Given the description of an element on the screen output the (x, y) to click on. 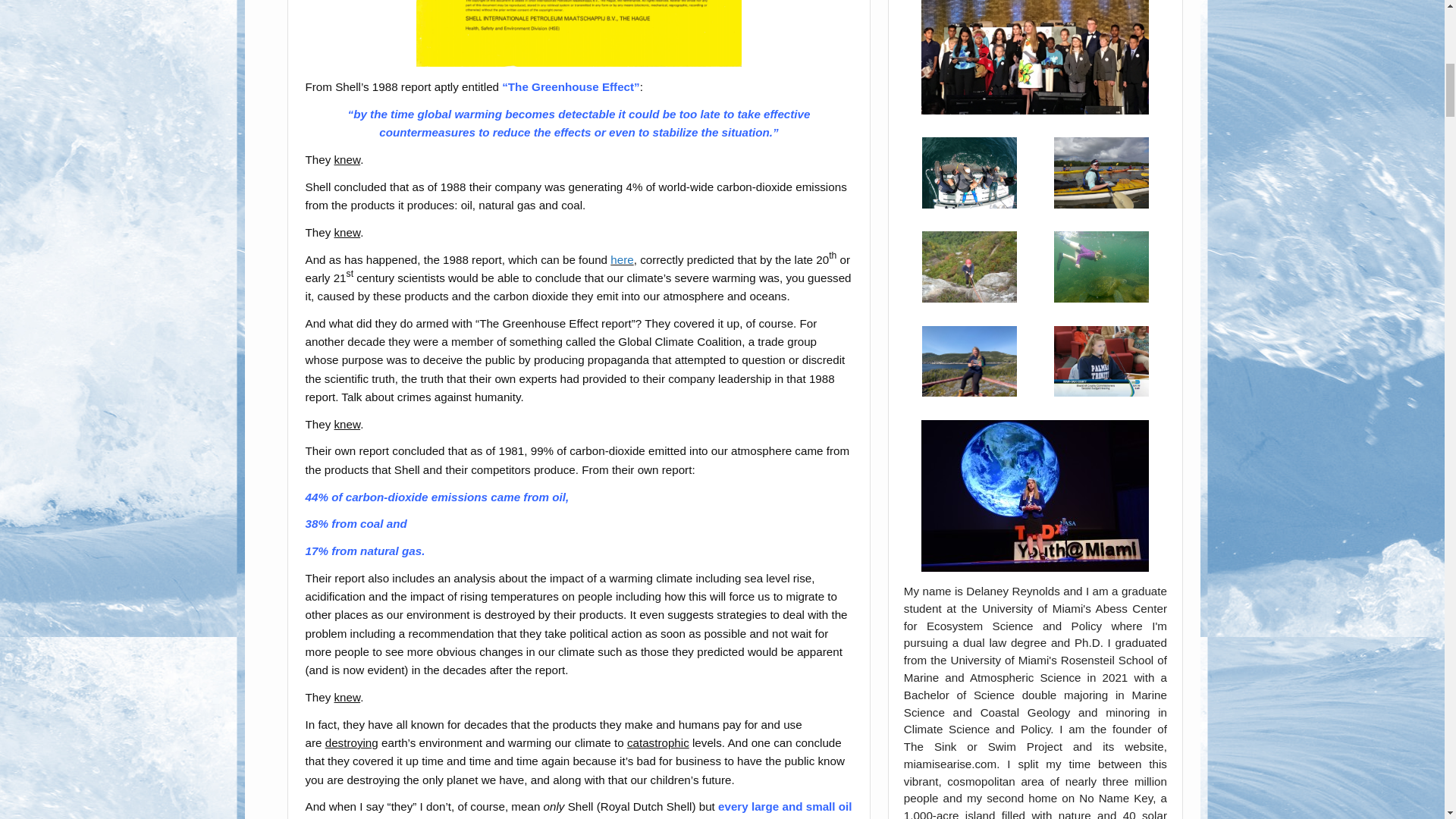
here (621, 259)
